Given the description of an element on the screen output the (x, y) to click on. 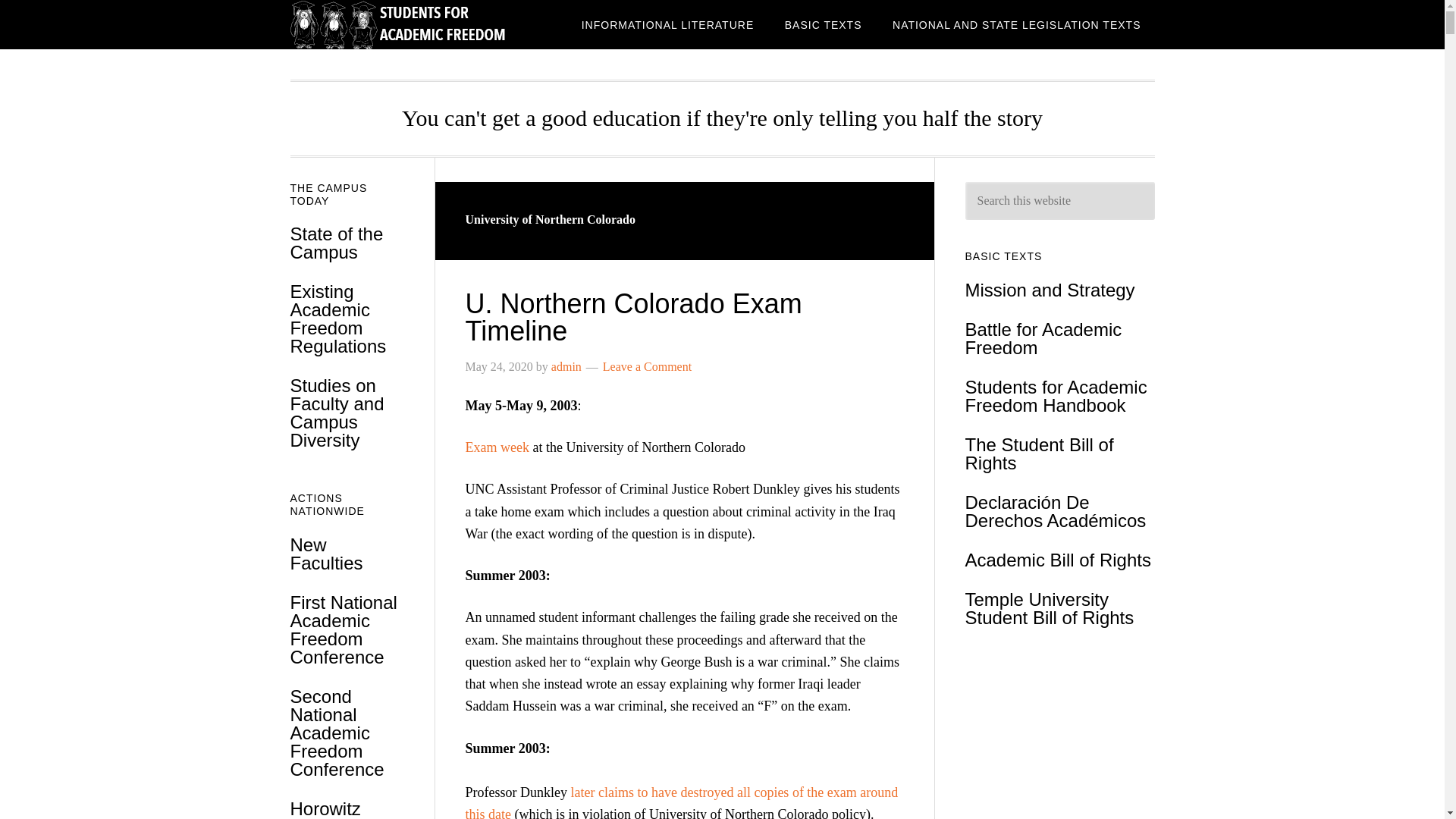
Exam week (497, 447)
INFORMATIONAL LITERATURE (667, 24)
Leave a Comment (646, 366)
STUDENTS FOR ACADEMIC FREEDOM (410, 24)
admin (565, 366)
BASIC TEXTS (823, 24)
U. Northern Colorado Exam Timeline (633, 317)
NATIONAL AND STATE LEGISLATION TEXTS (1016, 24)
